Given the description of an element on the screen output the (x, y) to click on. 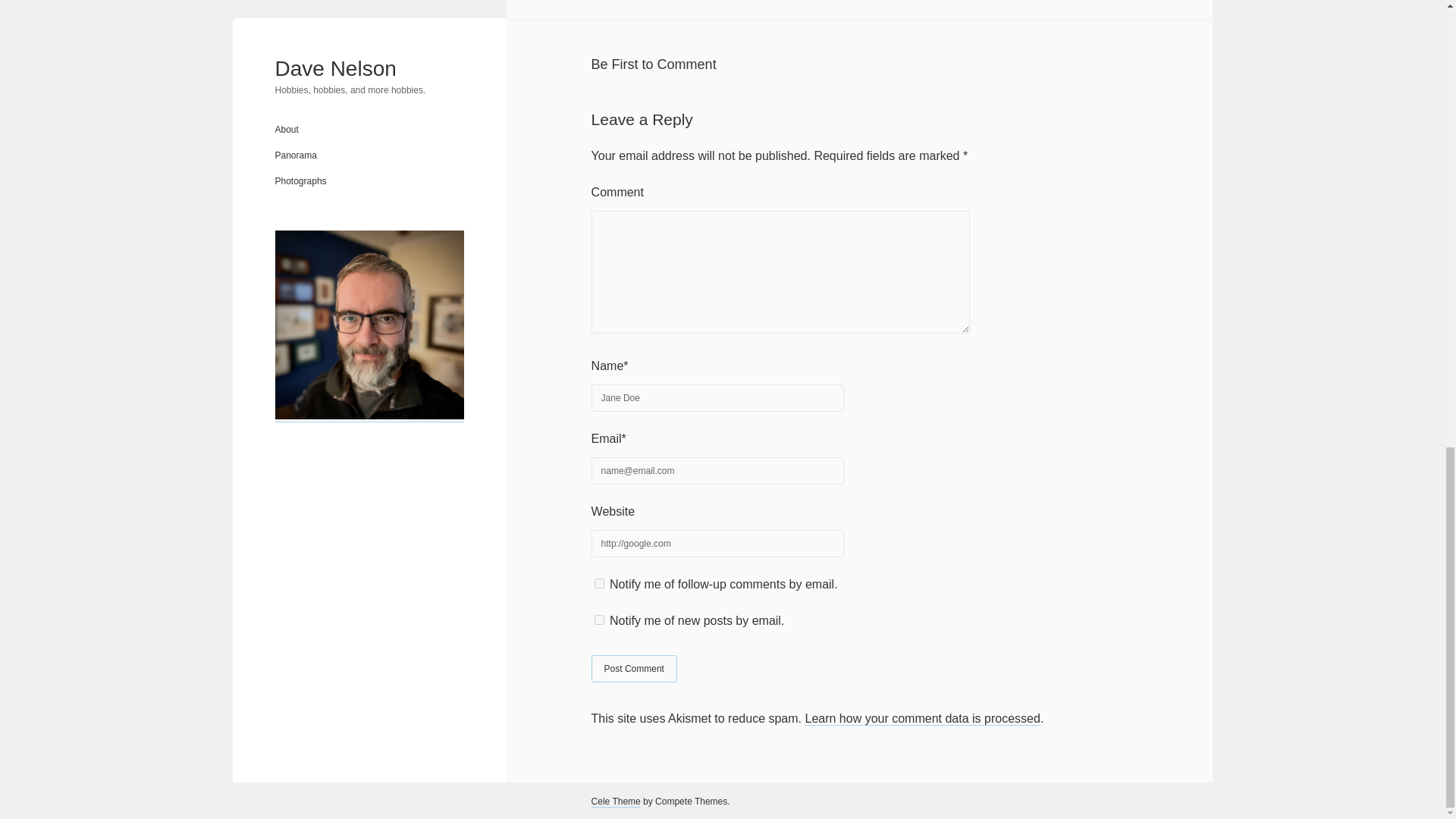
subscribe (599, 619)
subscribe (599, 583)
Learn how your comment data is processed (922, 718)
Post Comment (634, 668)
Post Comment (634, 668)
Cele Theme (615, 801)
